Given the description of an element on the screen output the (x, y) to click on. 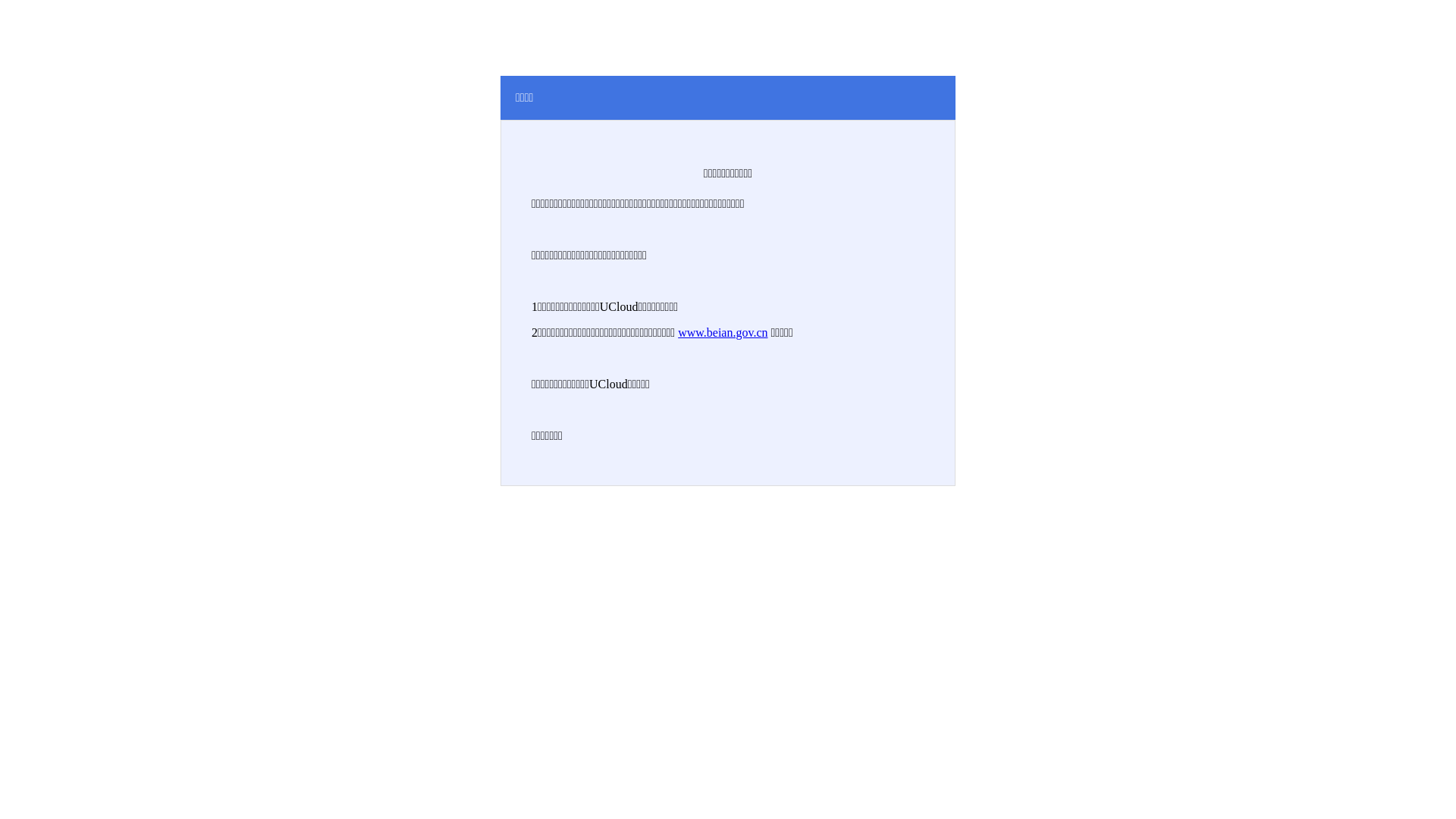
www.beian.gov.cn Element type: text (722, 332)
